Given the description of an element on the screen output the (x, y) to click on. 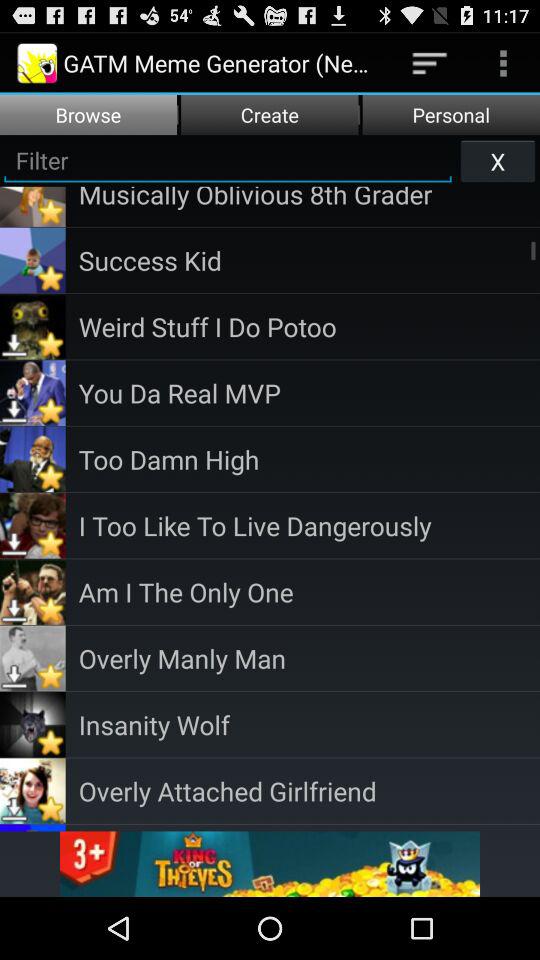
tap the you da real app (309, 392)
